Given the description of an element on the screen output the (x, y) to click on. 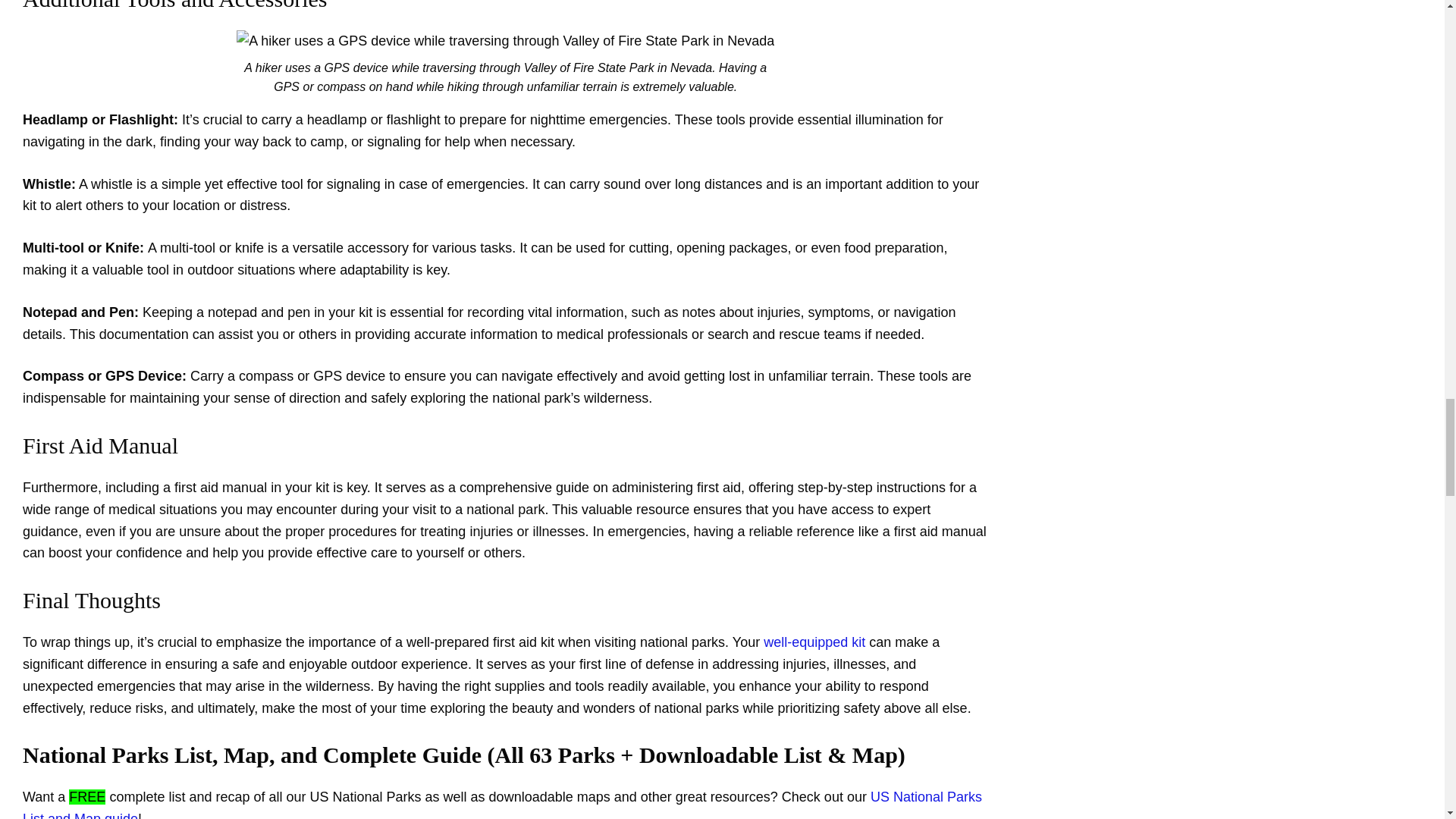
well-equipped kit (813, 642)
US National Parks List and Map guide (502, 804)
